Given the description of an element on the screen output the (x, y) to click on. 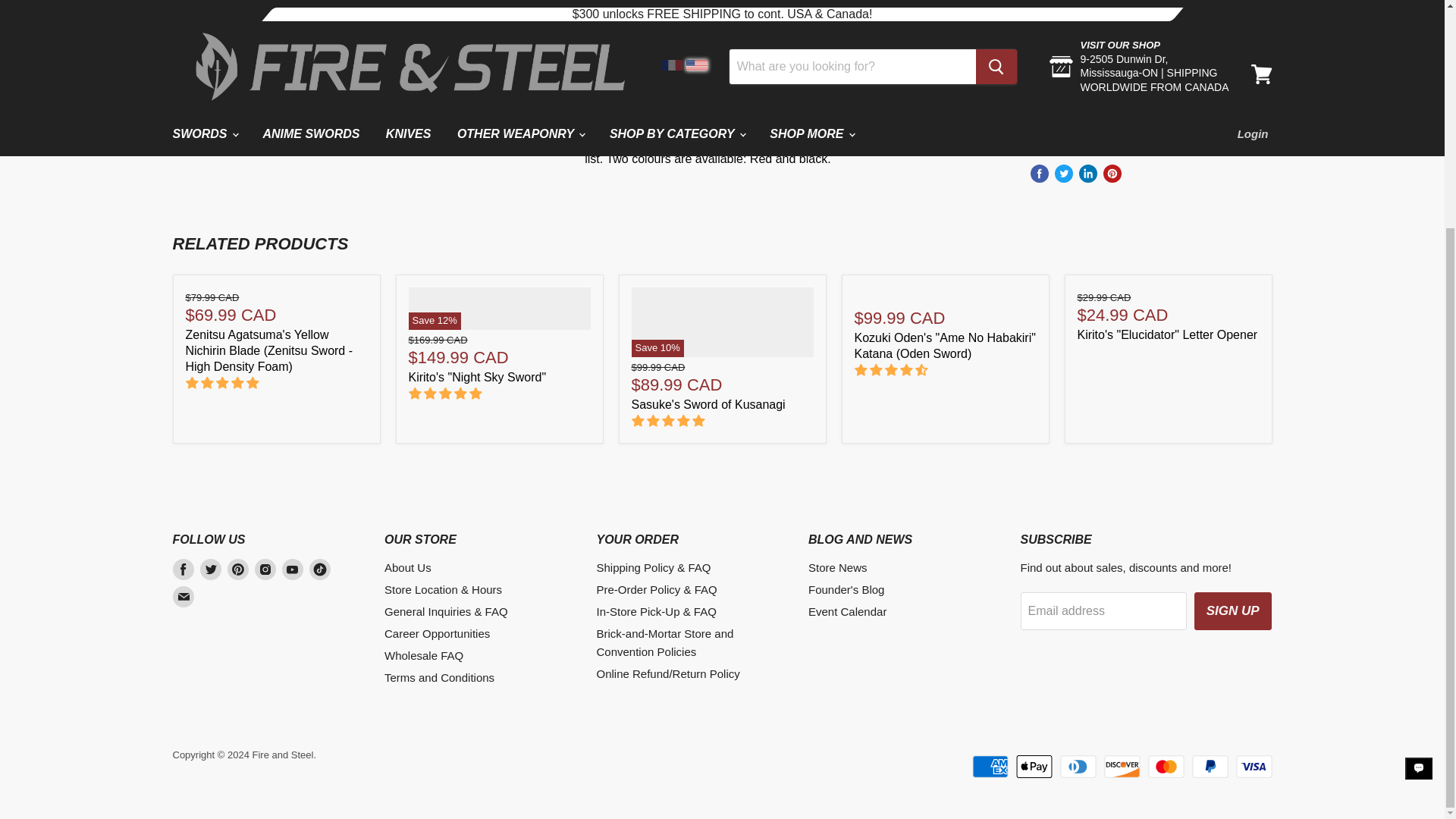
Mastercard (1254, 68)
American Express (1077, 68)
PayPal (1210, 101)
TikTok (319, 568)
Twitter (210, 568)
Instagram (265, 568)
Diners Club (1166, 68)
Discover (1210, 68)
Apple Pay (1121, 68)
Pinterest (237, 568)
